Given the description of an element on the screen output the (x, y) to click on. 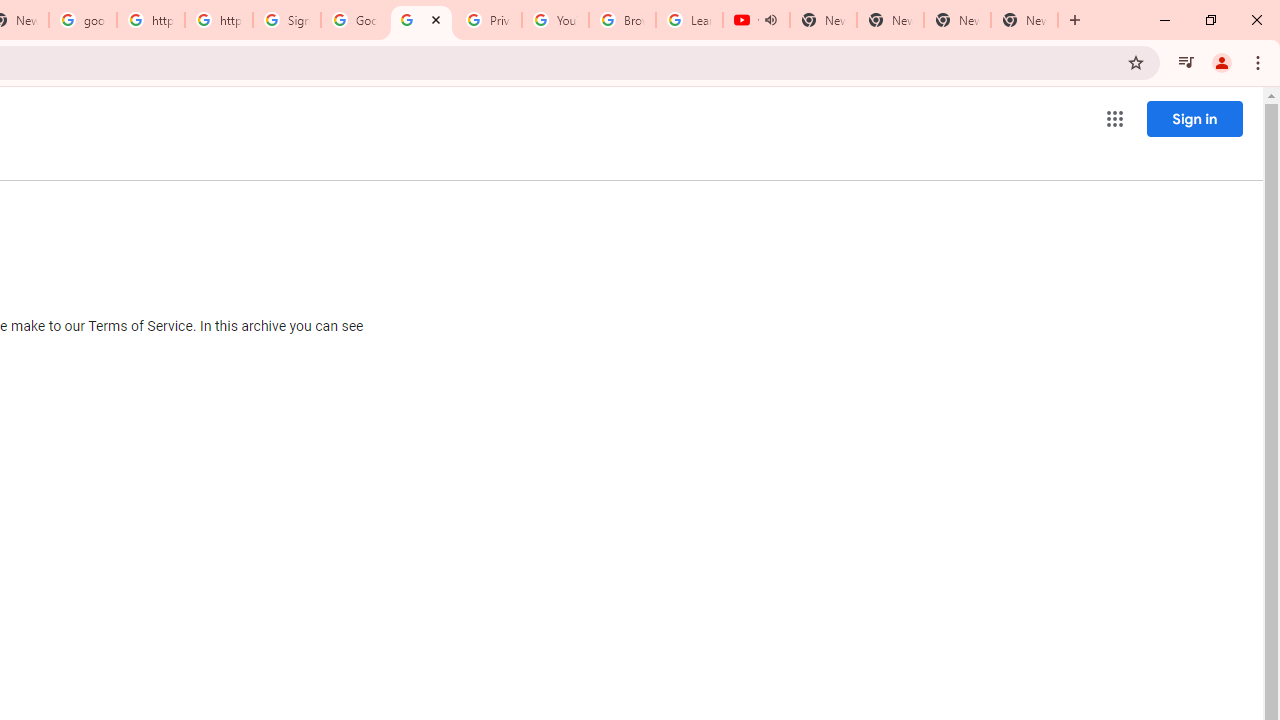
New Tab (1024, 20)
https://scholar.google.com/ (219, 20)
